Given the description of an element on the screen output the (x, y) to click on. 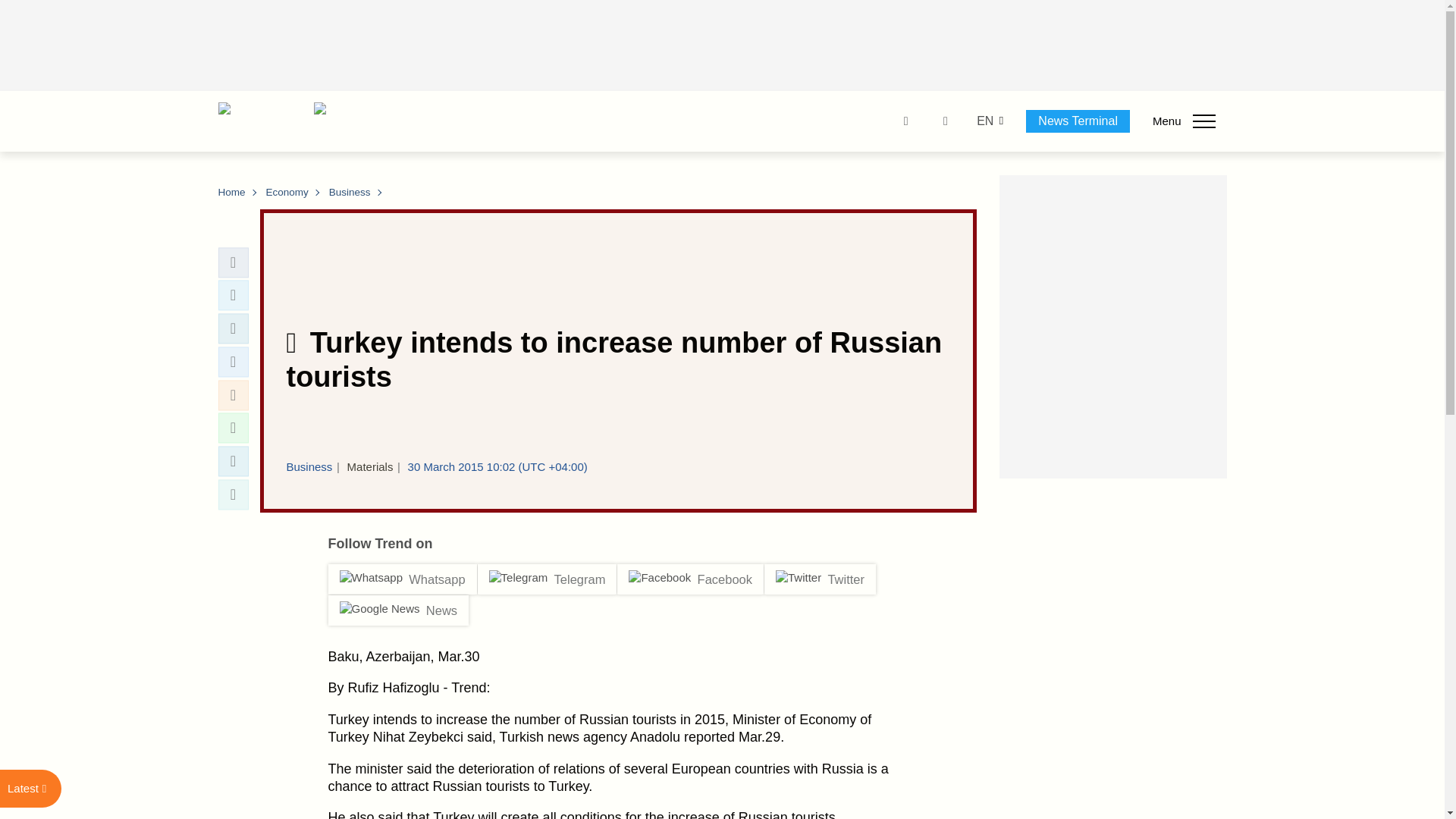
EN (984, 121)
News Terminal (1077, 120)
English (984, 121)
